Given the description of an element on the screen output the (x, y) to click on. 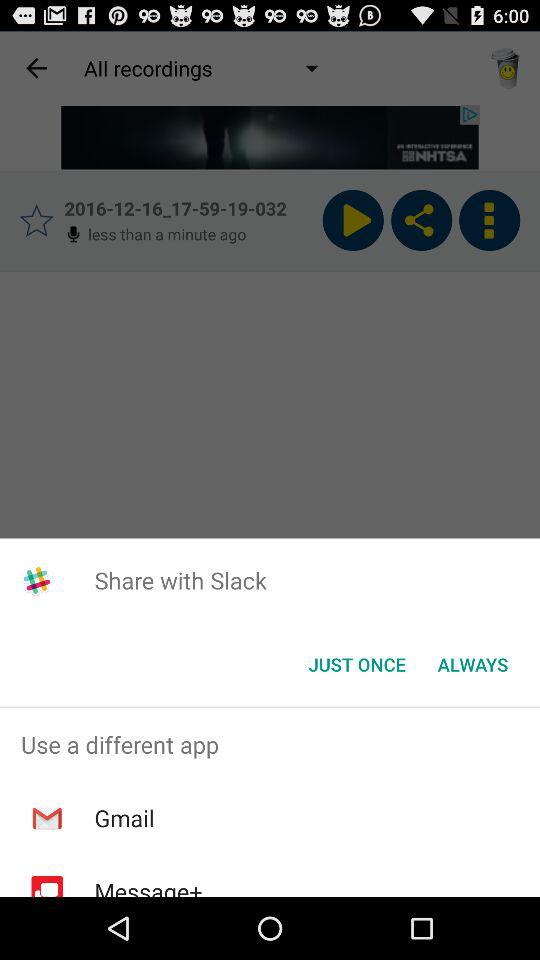
open the button to the right of the just once icon (472, 664)
